Given the description of an element on the screen output the (x, y) to click on. 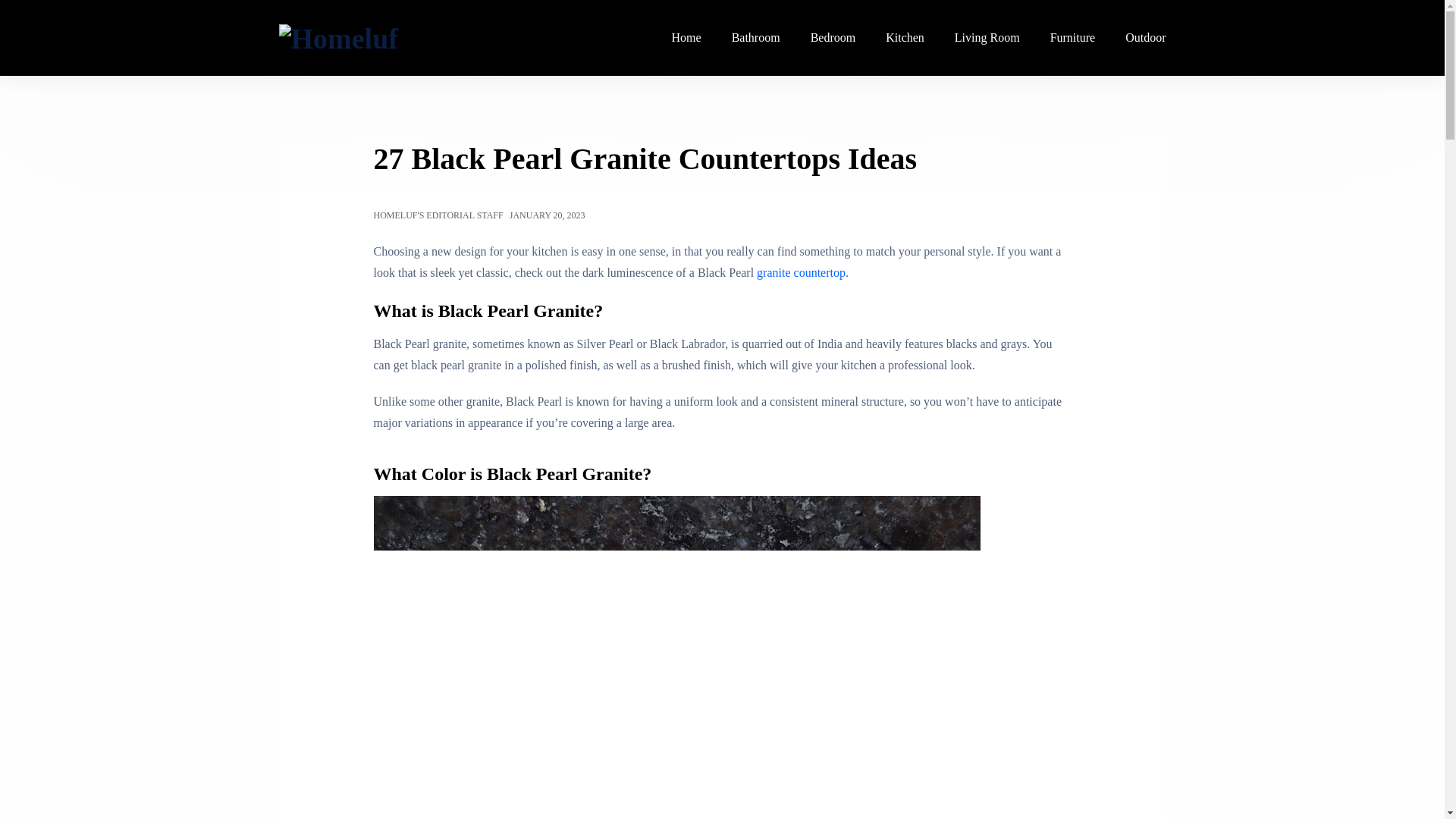
Living Room (987, 37)
granite countertop (799, 272)
Outdoor (1137, 37)
Bedroom (832, 37)
Kitchen (904, 37)
Home (686, 37)
HOMELUF'S EDITORIAL STAFF (437, 214)
Bathroom (755, 37)
Furniture (1072, 37)
Posts by Homeluf's Editorial Staff (437, 214)
